Given the description of an element on the screen output the (x, y) to click on. 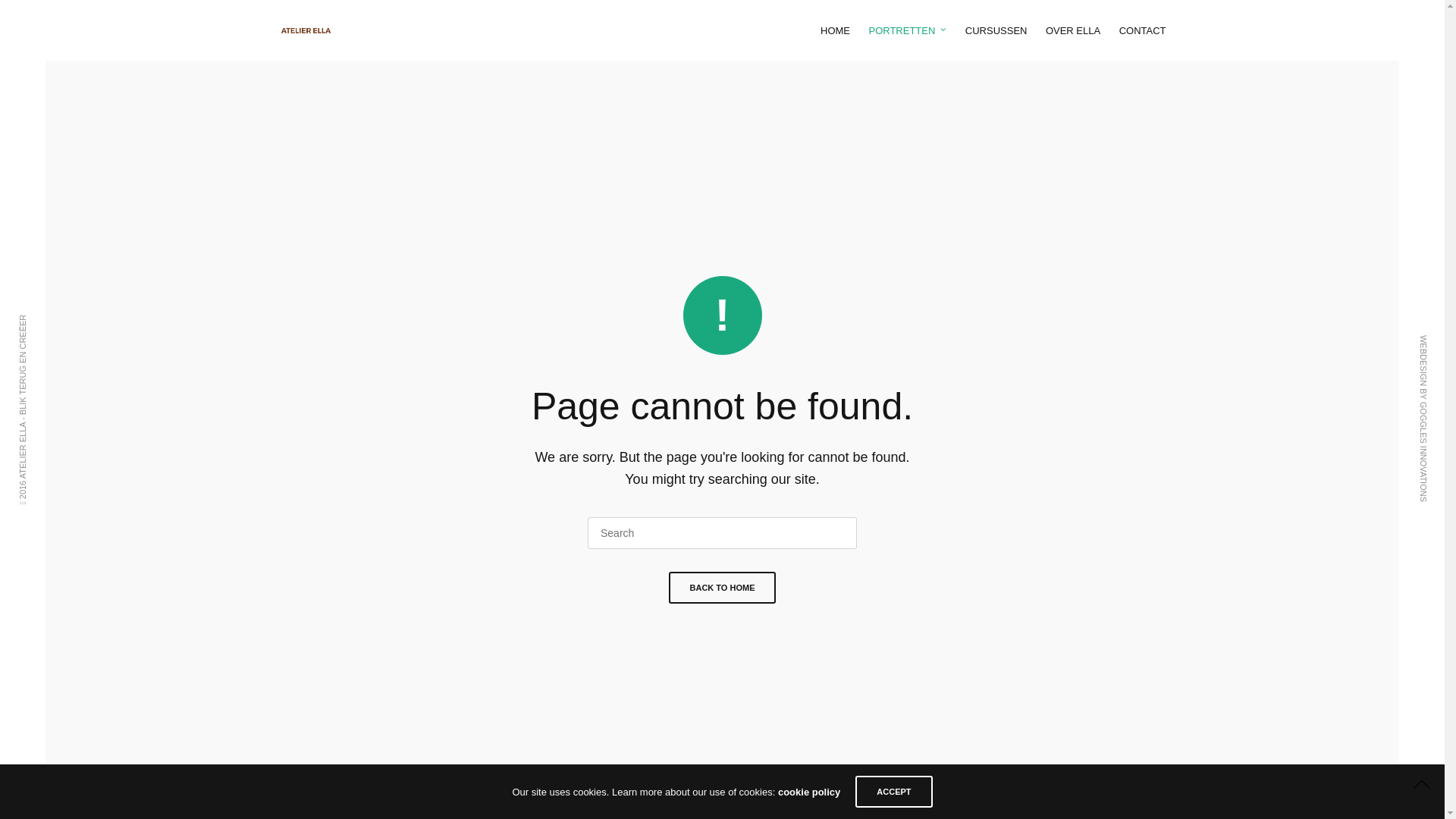
CURSUSSEN Element type: text (996, 30)
cookie policy Element type: text (809, 791)
PORTRETTEN Element type: text (907, 30)
OVER ELLA Element type: text (1072, 30)
BACK TO HOME Element type: text (722, 587)
ACCEPT Element type: text (893, 791)
CONTACT Element type: text (1142, 30)
HOME Element type: text (835, 30)
